Given the description of an element on the screen output the (x, y) to click on. 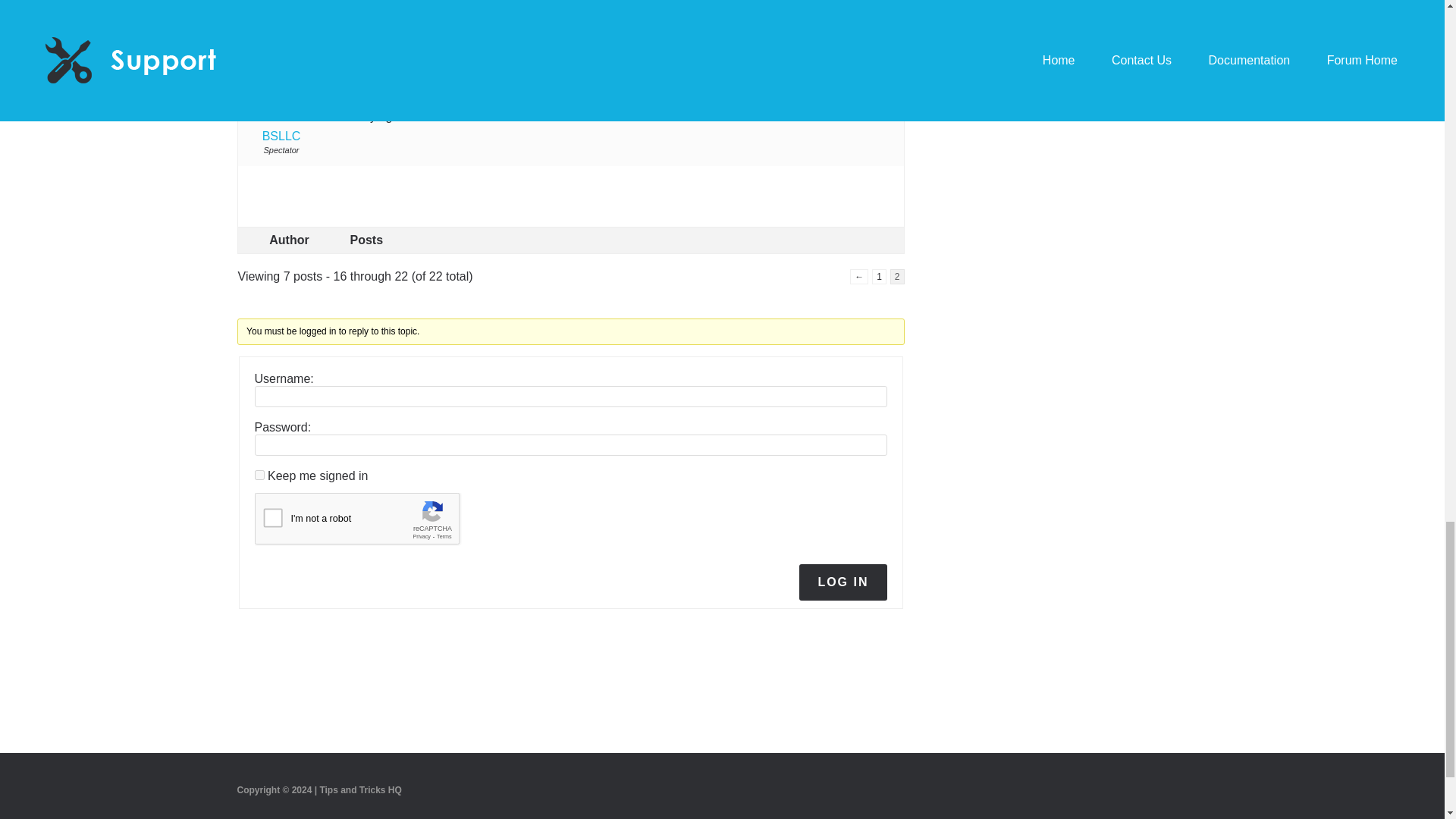
1 (879, 276)
LOG IN (842, 582)
reCAPTCHA (369, 522)
BSLLC (281, 108)
forever (259, 474)
View BSLLC's profile (281, 108)
